Given the description of an element on the screen output the (x, y) to click on. 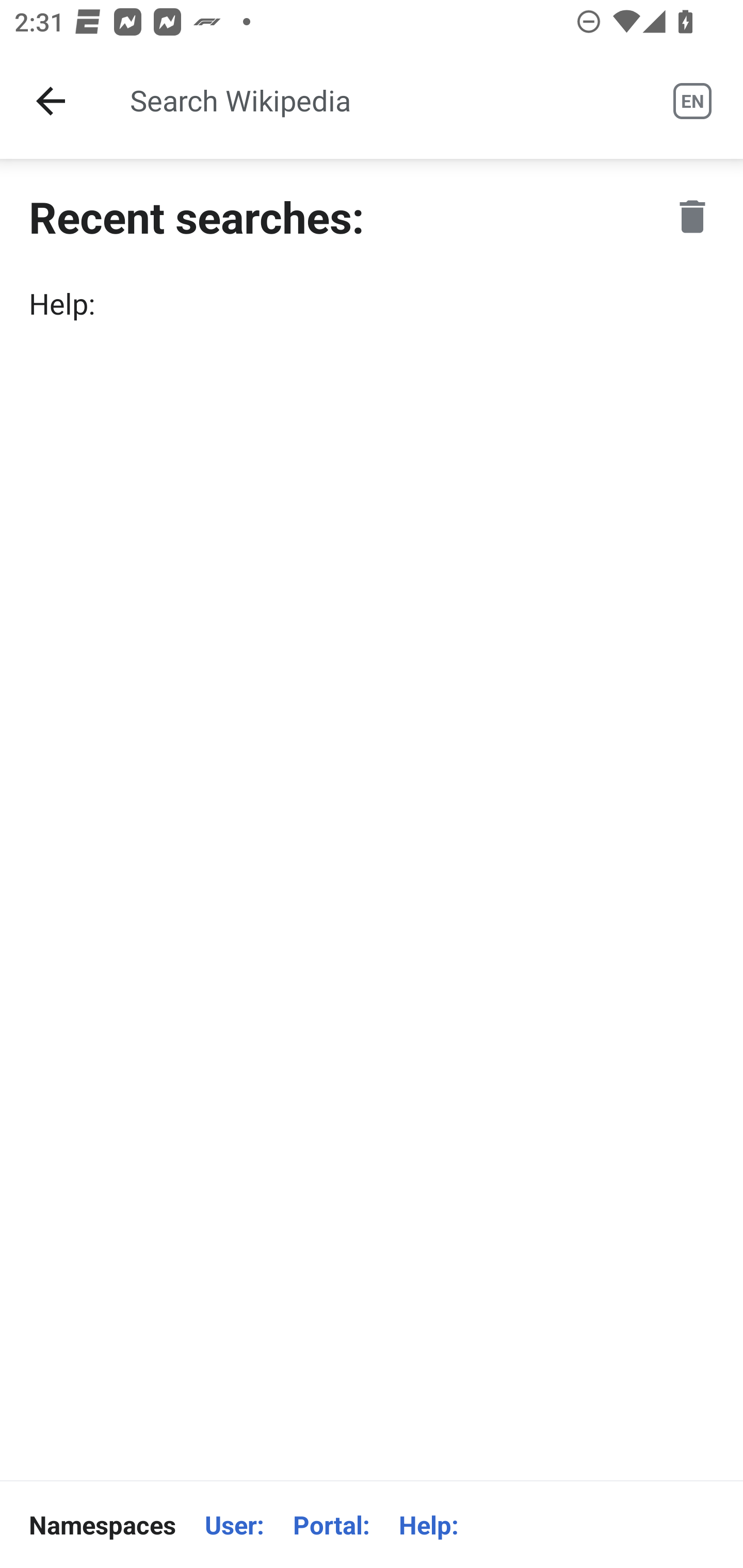
Navigate up (50, 101)
Search Wikipedia (372, 100)
Wikipedia languages EN (692, 100)
Clear history (692, 216)
Help: (371, 303)
Namespaces (102, 1524)
User: (234, 1524)
Portal: (331, 1524)
Help: (428, 1524)
